Given the description of an element on the screen output the (x, y) to click on. 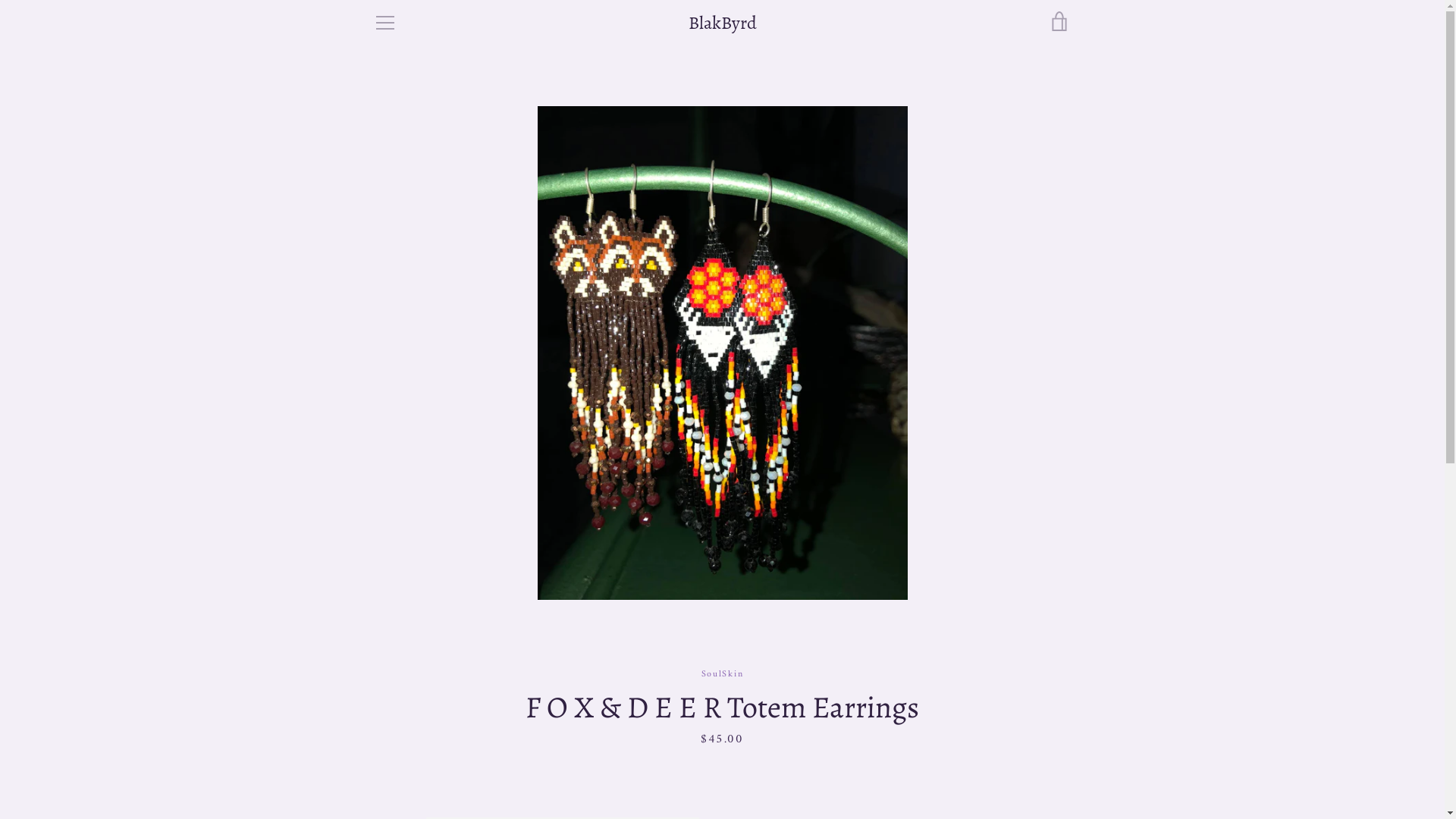
WILD ALLIES Element type: text (405, 677)
Facebook Element type: text (372, 765)
VIEW CART Element type: text (1059, 22)
ABOUT US Element type: text (398, 632)
MENU Element type: text (384, 22)
Skip to content Element type: text (0, 0)
POS Element type: text (744, 756)
SEARCH Element type: text (392, 610)
BlakByrd Element type: text (711, 756)
SUBSCRIBE Element type: text (1033, 679)
Instagram Element type: text (399, 765)
BlakByrd Element type: text (722, 23)
Ecommerce by Shopify Element type: text (769, 766)
STOCKISTS Element type: text (399, 654)
